Given the description of an element on the screen output the (x, y) to click on. 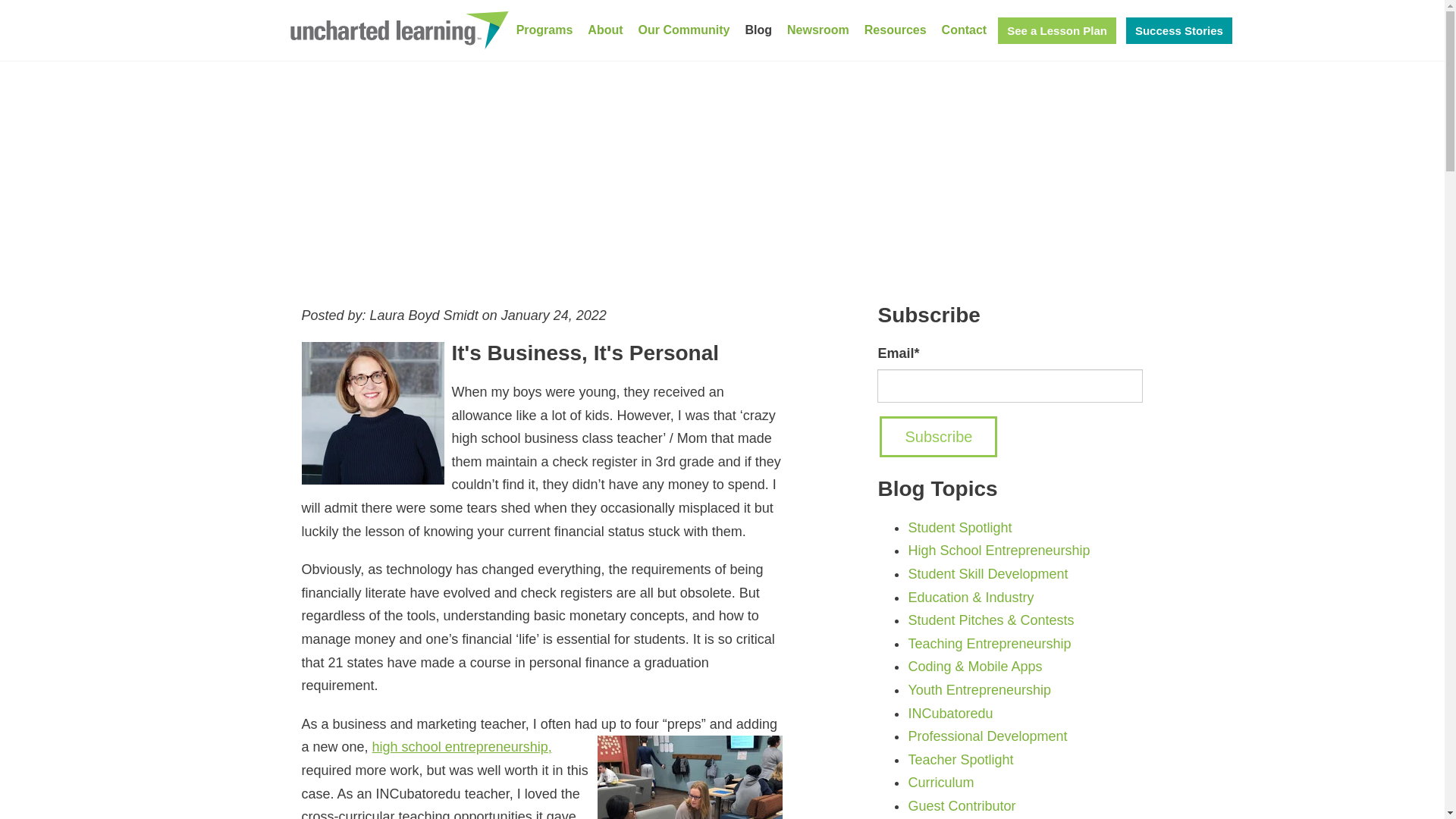
Newsroom (817, 30)
Success Stories (1178, 30)
Contact (964, 30)
Our Community (684, 30)
See a Lesson Plan (1056, 30)
Programs (544, 30)
Subscribe (938, 436)
Resources (895, 30)
